Given the description of an element on the screen output the (x, y) to click on. 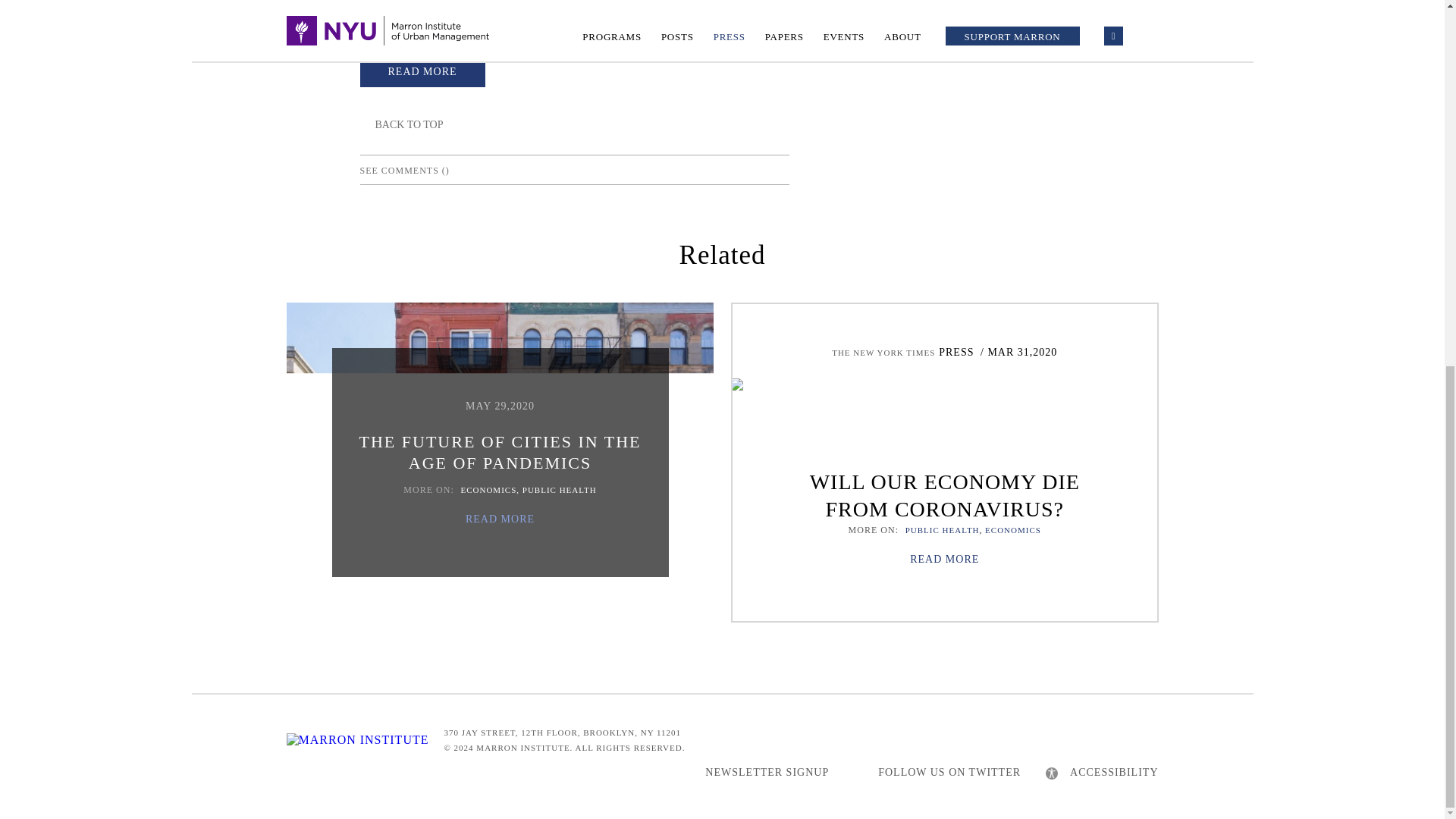
READ MORE (421, 70)
READ MORE (944, 558)
BACK TO TOP (400, 124)
PUBLIC HEALTH (559, 489)
PUBLIC HEALTH (942, 529)
READ MORE (499, 518)
ECONOMICS (1013, 529)
ECONOMICS (488, 489)
